Given the description of an element on the screen output the (x, y) to click on. 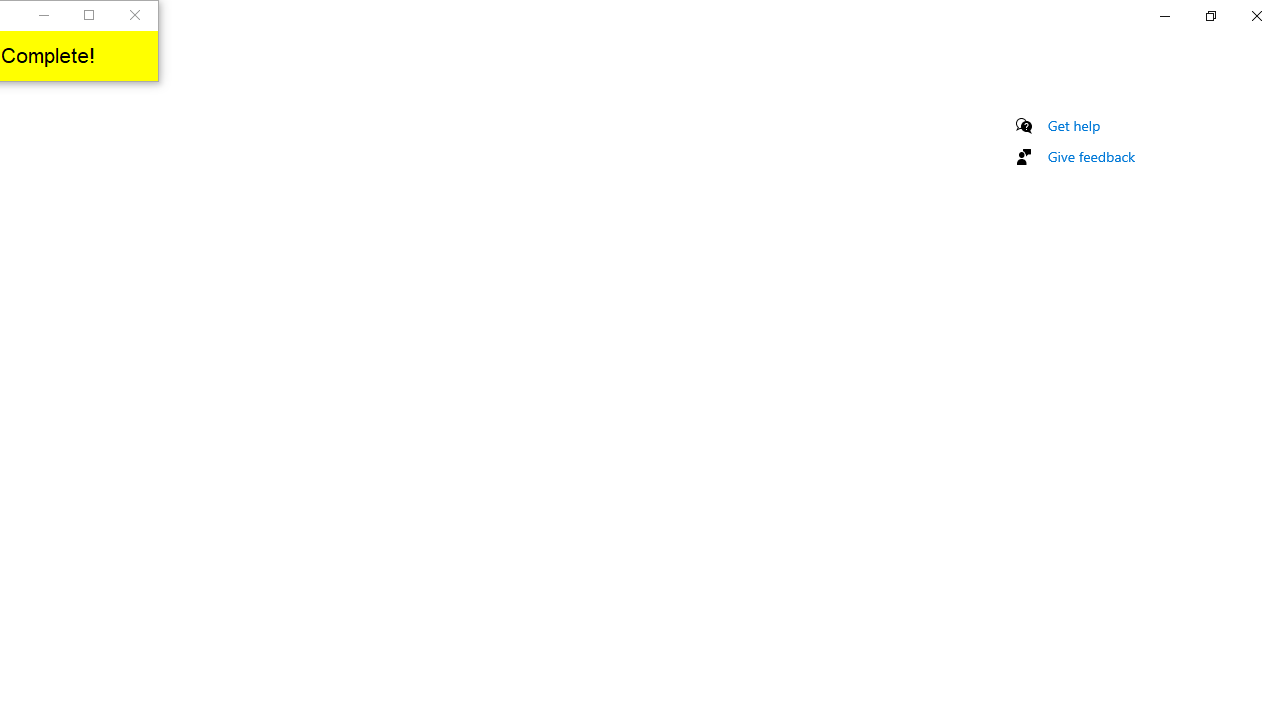
Get help (1074, 125)
Minimize Settings (1164, 15)
Give feedback (1091, 156)
Close Settings (1256, 15)
Restore Settings (1210, 15)
